Given the description of an element on the screen output the (x, y) to click on. 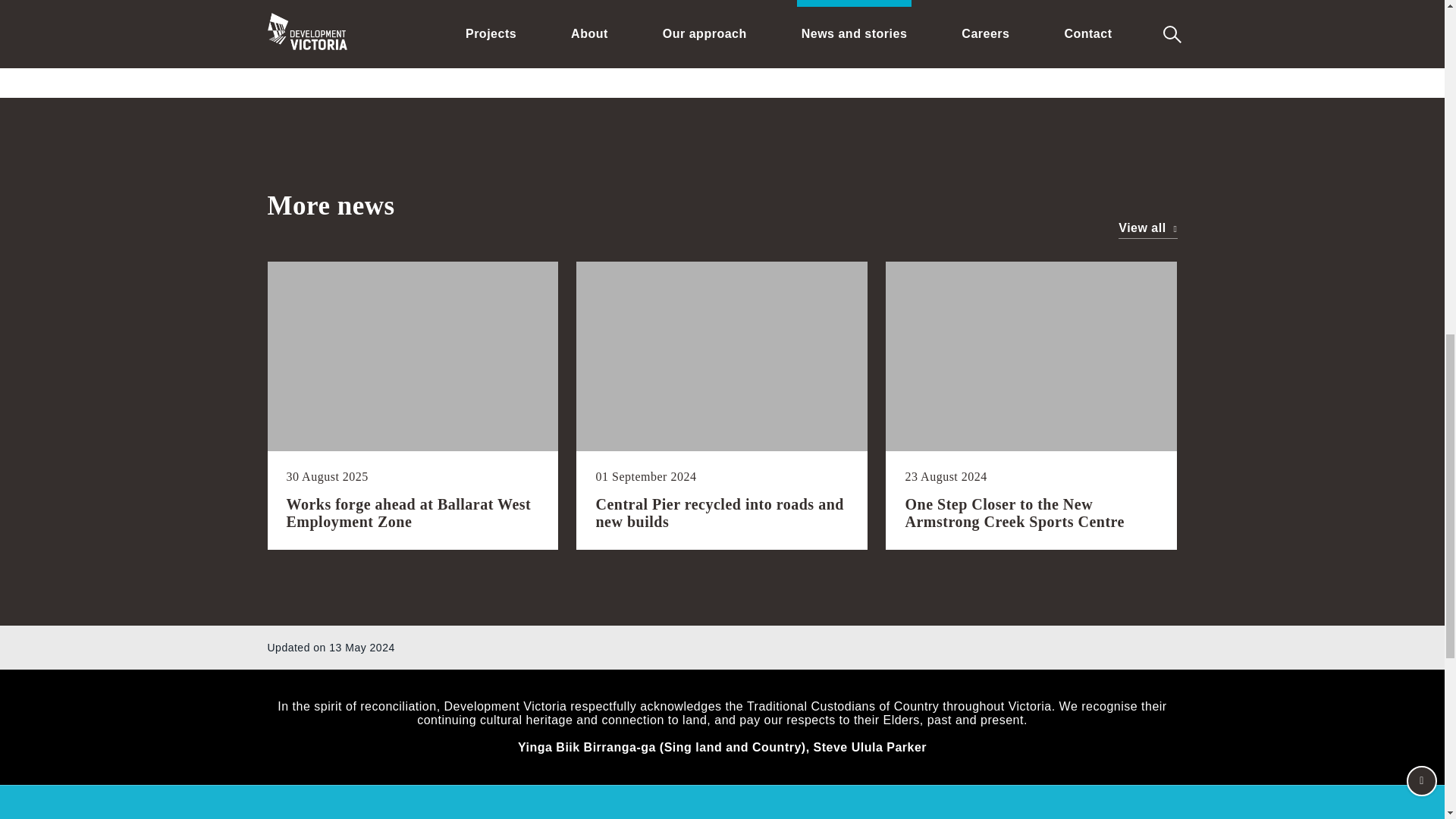
Share this page on Facebook (1008, 11)
Share this page on Twitter (972, 11)
Linkedin (935, 11)
Twitter (972, 11)
